Given the description of an element on the screen output the (x, y) to click on. 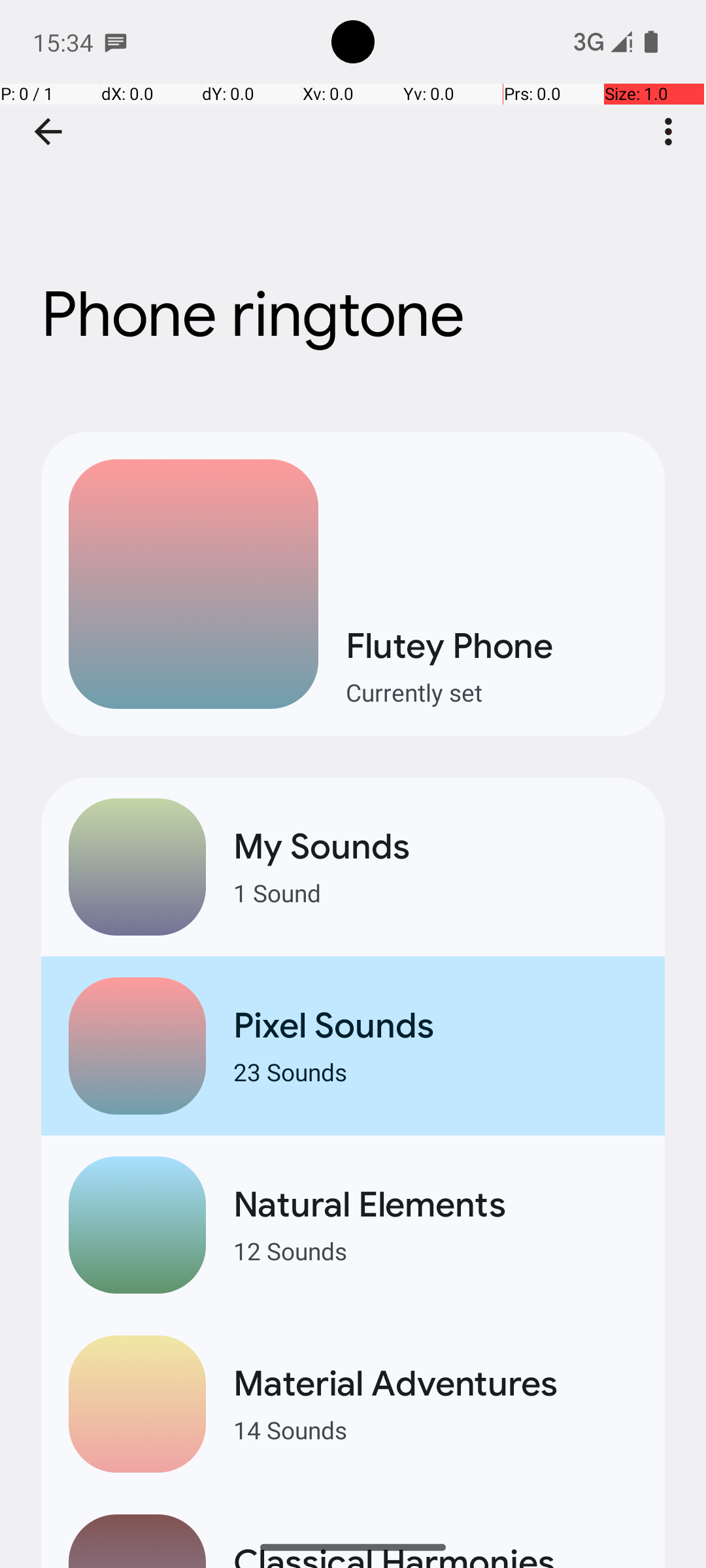
Phone ringtone Element type: android.widget.FrameLayout (353, 195)
Flutey Phone Element type: android.widget.TextView (491, 645)
Currently set Element type: android.widget.TextView (491, 691)
My Sounds Element type: android.widget.TextView (435, 846)
1 Sound Element type: android.widget.TextView (435, 892)
Pixel Sounds Element type: android.widget.TextView (435, 1025)
23 Sounds Element type: android.widget.TextView (435, 1071)
Natural Elements Element type: android.widget.TextView (435, 1204)
12 Sounds Element type: android.widget.TextView (435, 1250)
Material Adventures Element type: android.widget.TextView (435, 1383)
14 Sounds Element type: android.widget.TextView (435, 1429)
Classical Harmonies Element type: android.widget.TextView (435, 1554)
